Given the description of an element on the screen output the (x, y) to click on. 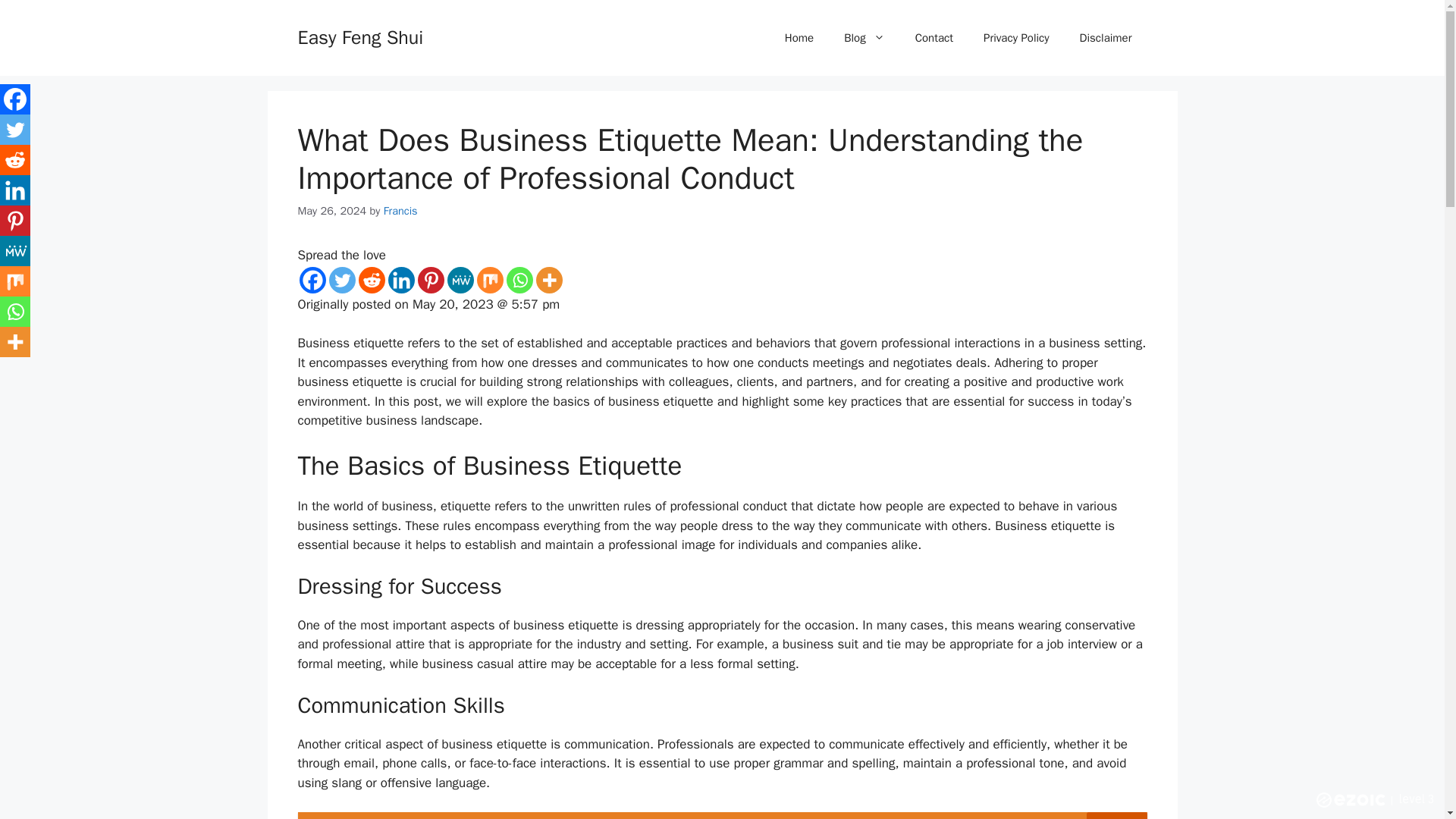
Facebook (311, 279)
MeWe (15, 250)
Easy Feng Shui (360, 37)
Mix (489, 279)
Francis (400, 210)
Whatsapp (519, 279)
Facebook (15, 99)
Pinterest (430, 279)
View all posts by Francis (400, 210)
Twitter (15, 129)
